Given the description of an element on the screen output the (x, y) to click on. 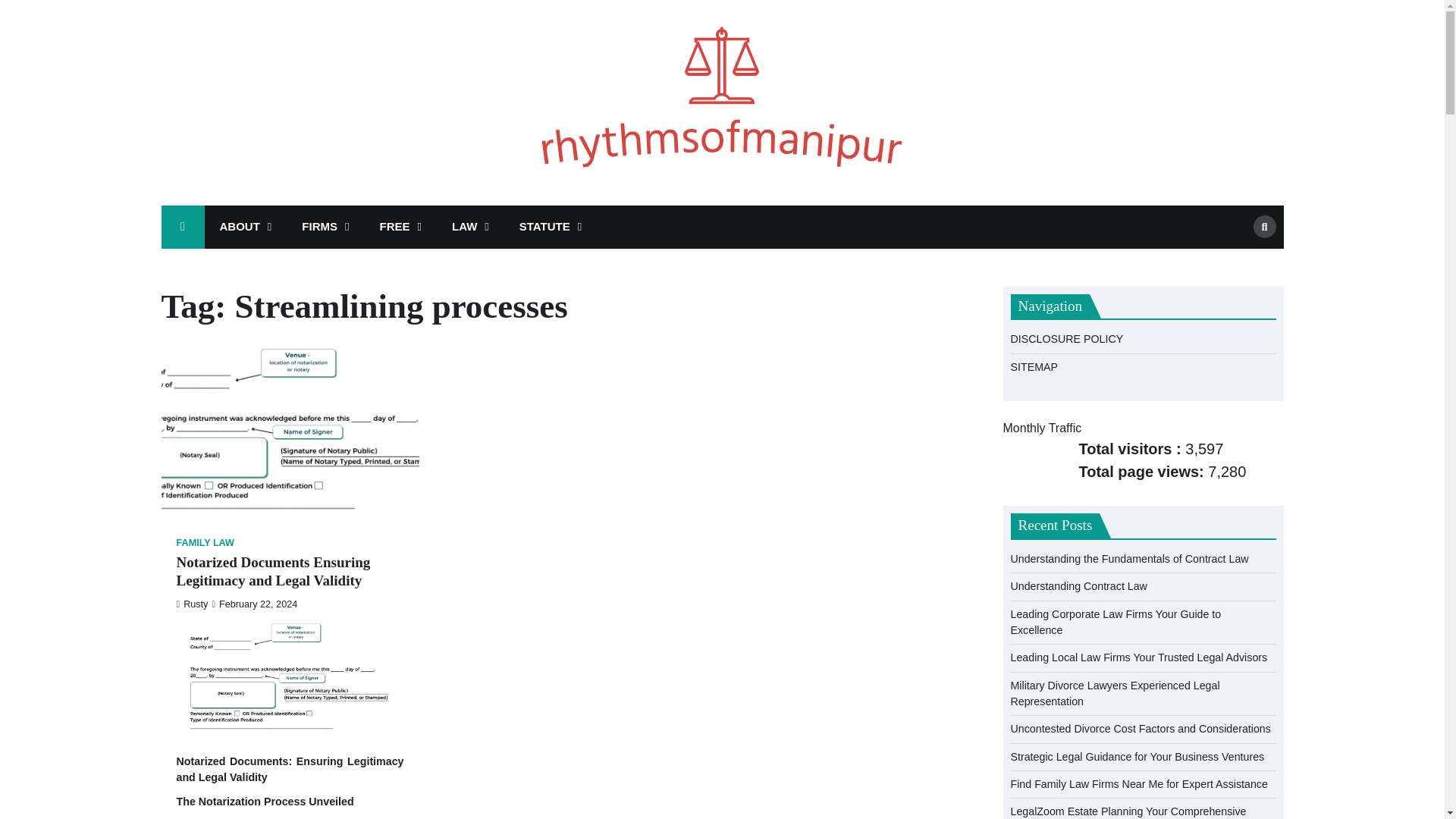
February 22, 2024 (254, 603)
STATUTE (549, 226)
Notarized Documents Ensuring Legitimacy and Legal Validity (289, 572)
FAMILY LAW (204, 542)
Notarized Documents Ensuring Legitimacy and Legal Validity (289, 432)
Search (1238, 258)
FREE (400, 226)
Notarized Documents Ensuring Legitimacy and Legal Validity (289, 678)
FIRMS (325, 226)
Rusty (192, 603)
